Given the description of an element on the screen output the (x, y) to click on. 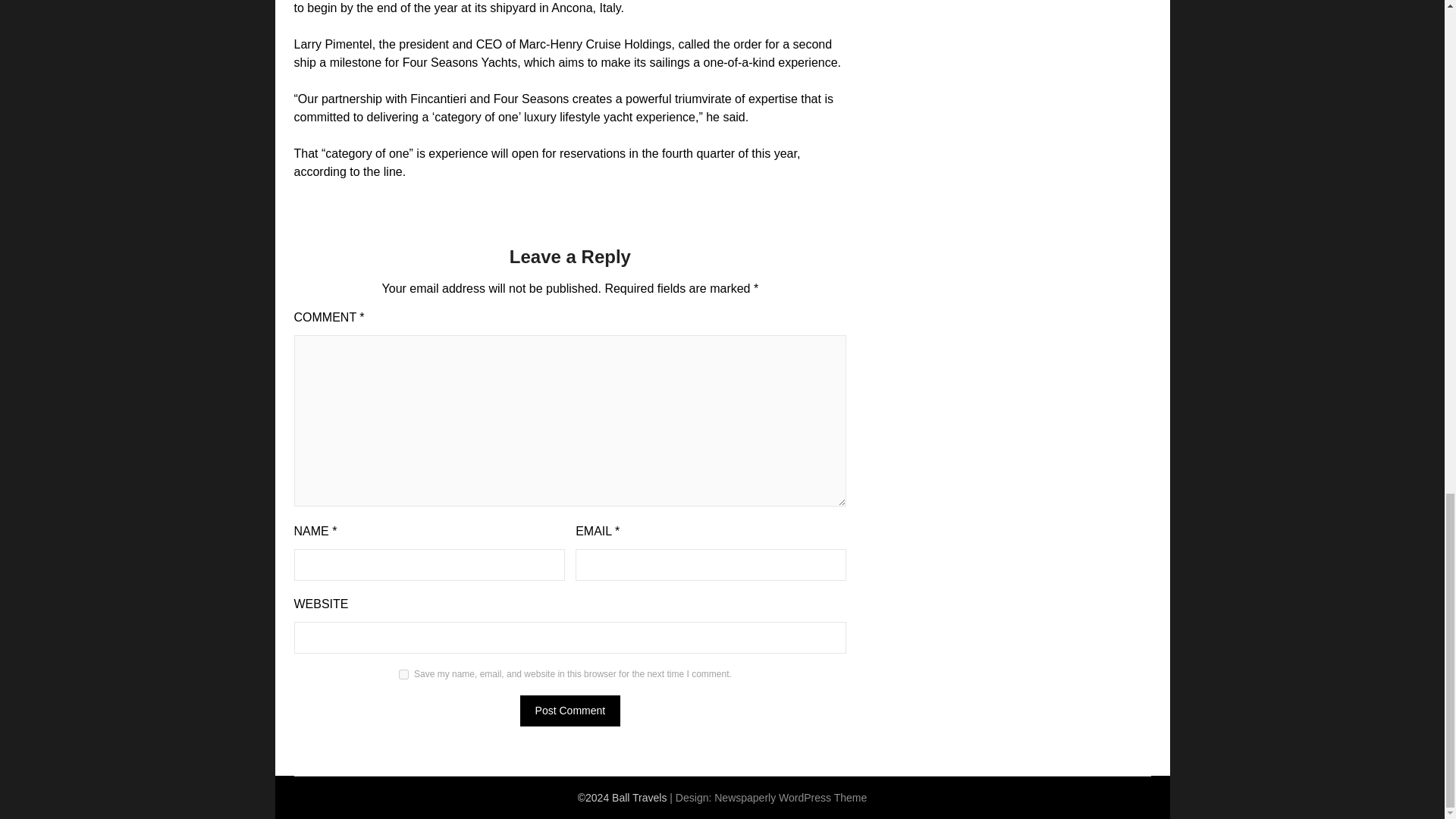
Post Comment (570, 710)
yes (403, 674)
Post Comment (570, 710)
Newspaperly WordPress Theme (790, 797)
